Given the description of an element on the screen output the (x, y) to click on. 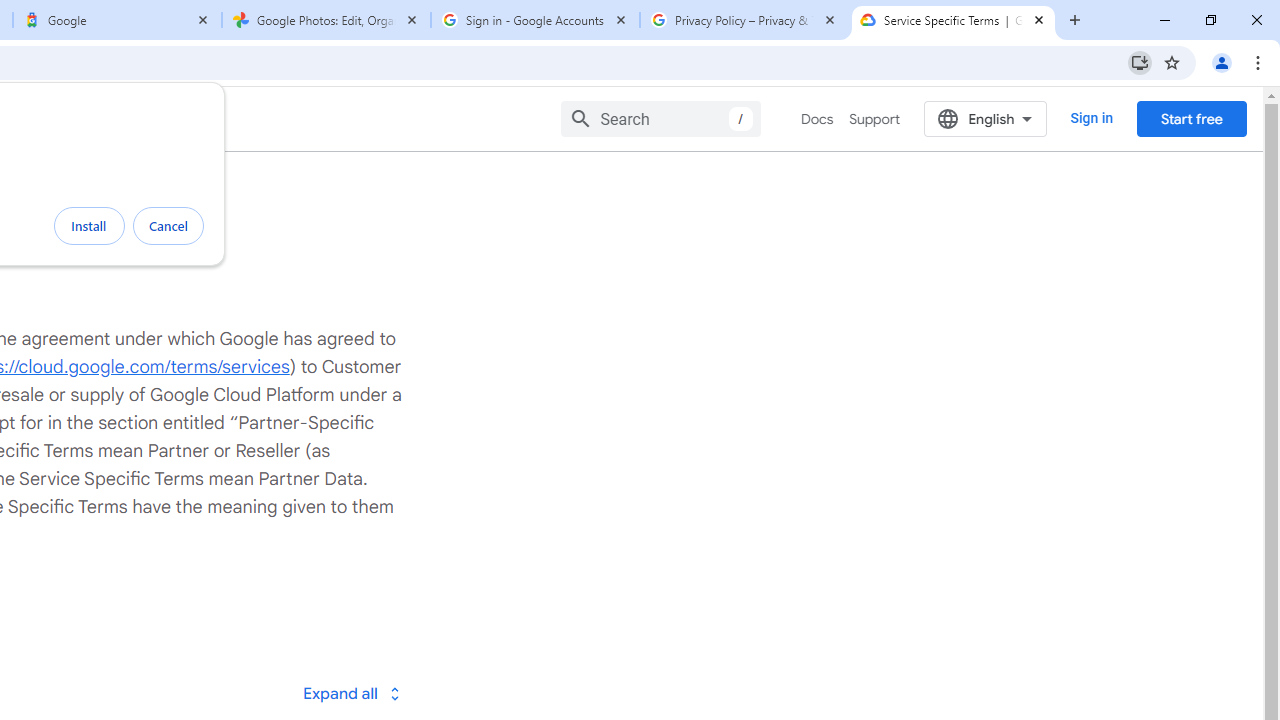
Add an author (142, 683)
